Given the description of an element on the screen output the (x, y) to click on. 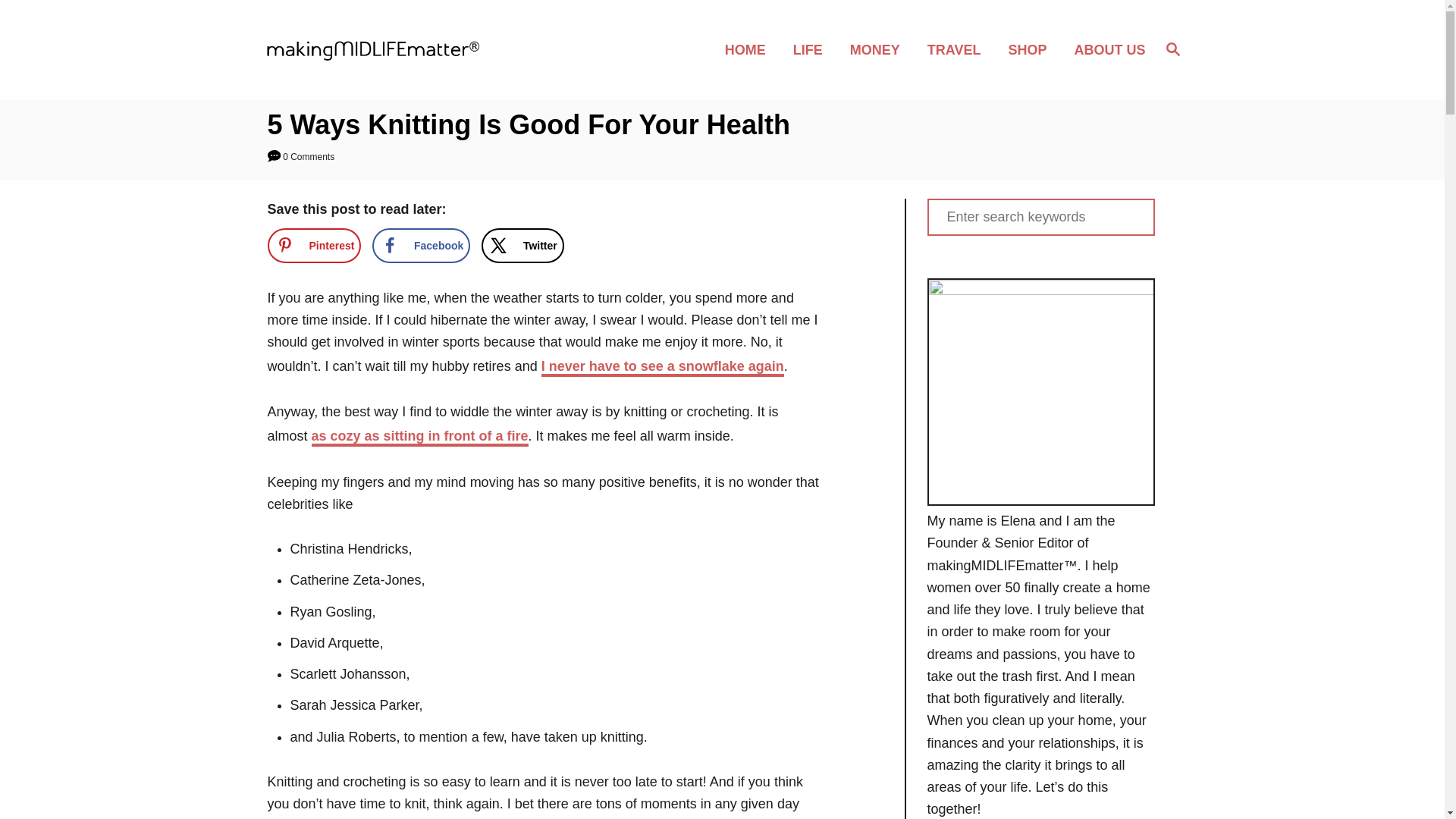
I never have to see a snowflake again (662, 367)
MONEY (879, 49)
Magnifying Glass (1171, 48)
Share on Facebook (421, 245)
HOME (750, 49)
SHOP (1031, 49)
Twitter (1171, 49)
Share on X (522, 245)
Save to Pinterest (522, 245)
